Given the description of an element on the screen output the (x, y) to click on. 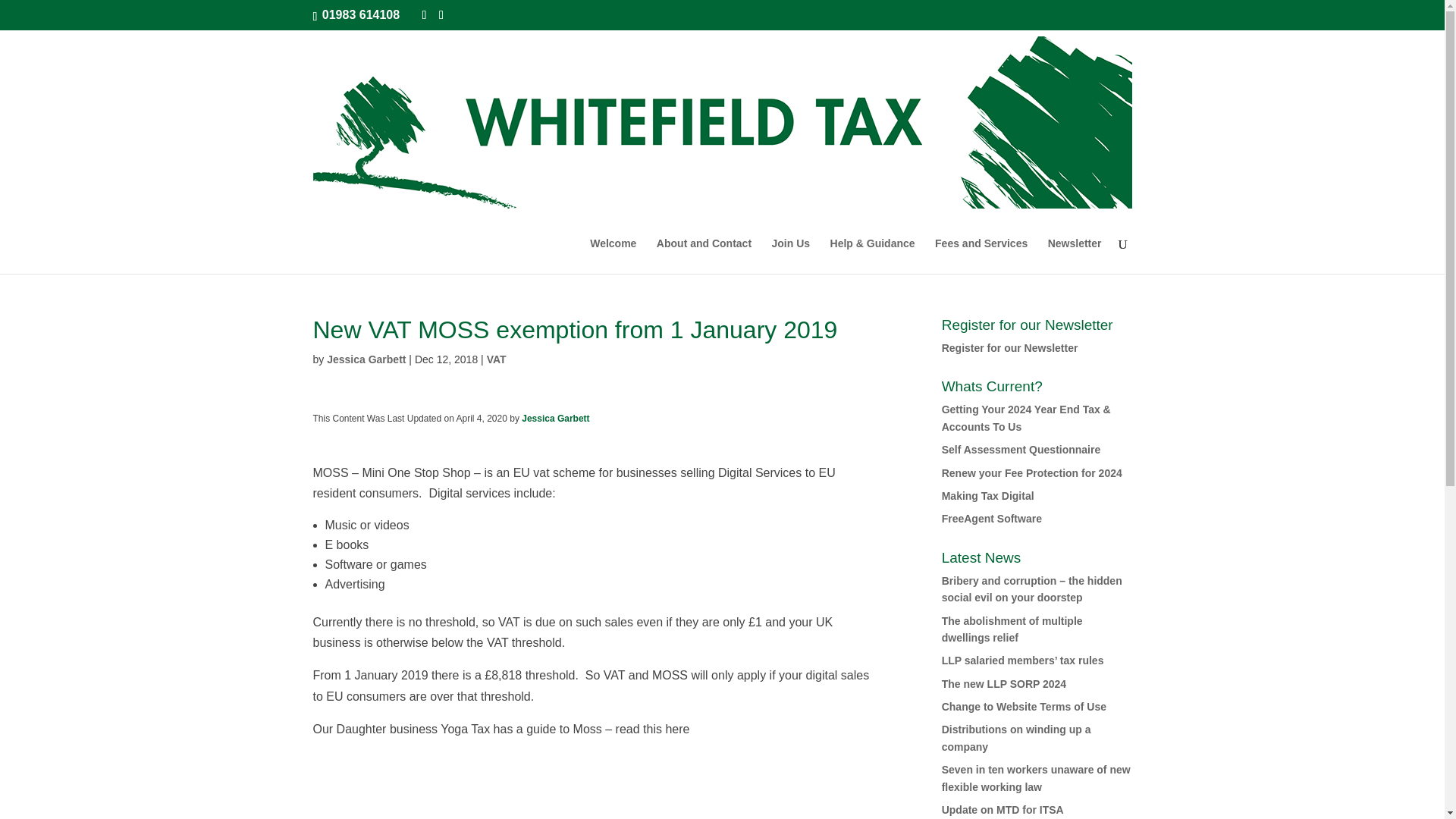
Change to Website Terms of Use (1024, 706)
Welcome (612, 255)
Newsletter (1075, 255)
Seven in ten workers unaware of new flexible working law (1036, 777)
Jessica Garbett (366, 358)
Posts by Jessica Garbett (366, 358)
The new LLP SORP 2024 (1003, 684)
About and Contact (703, 255)
FreeAgent Software (992, 518)
VAT (496, 358)
